Given the description of an element on the screen output the (x, y) to click on. 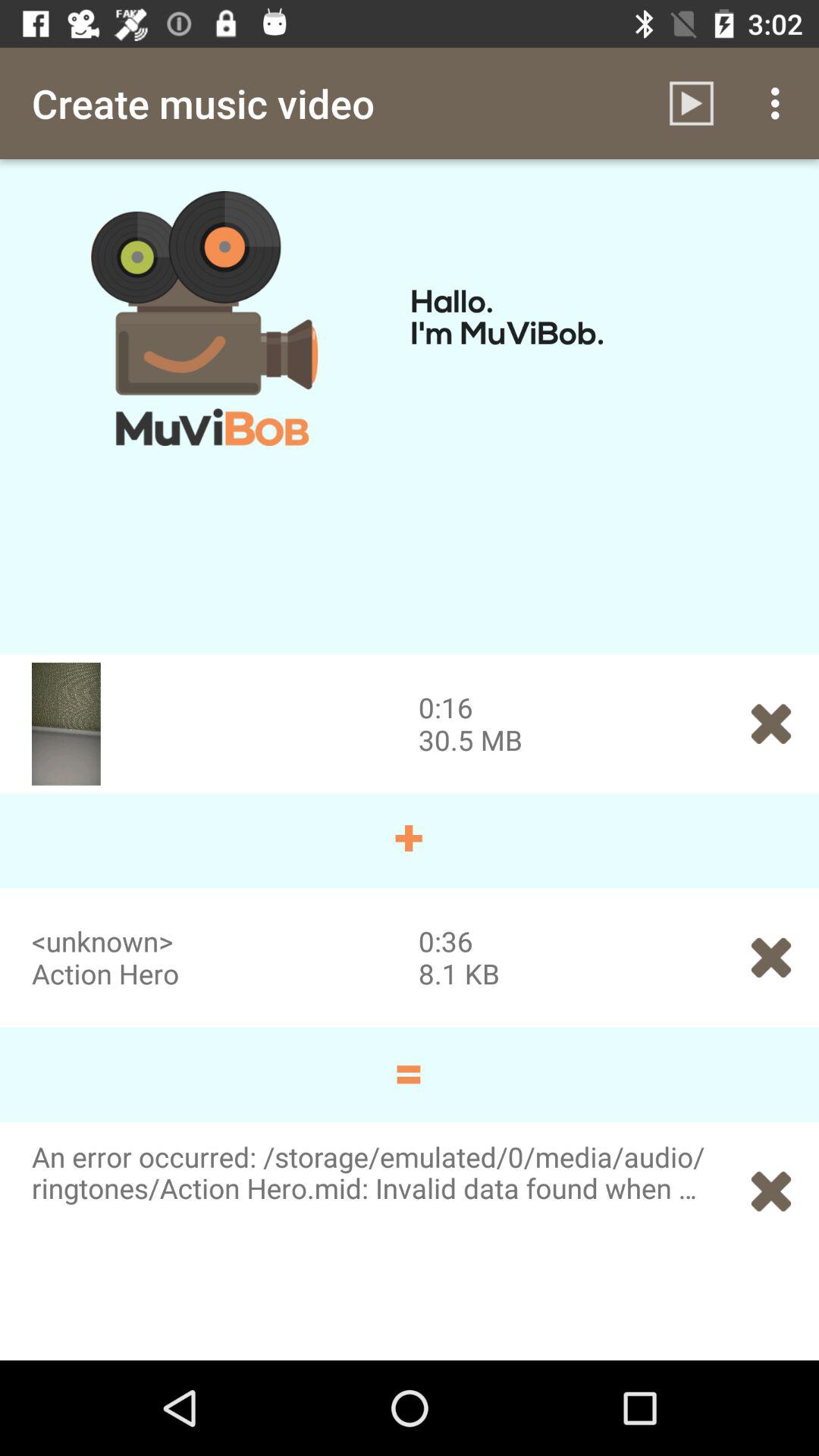
launch the icon above the hallo i m (691, 103)
